Given the description of an element on the screen output the (x, y) to click on. 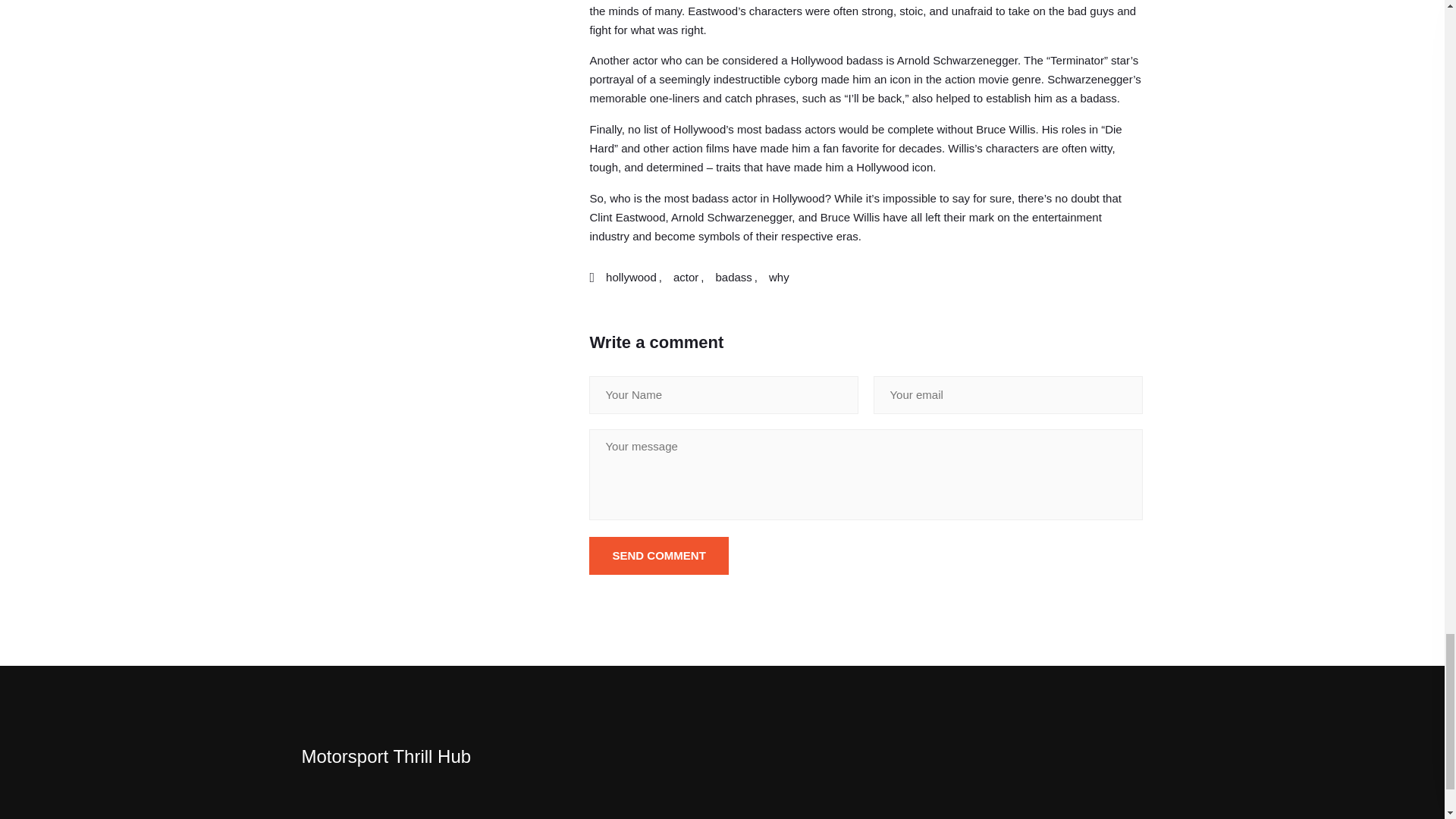
why (778, 277)
actor (685, 277)
hollywood (630, 277)
badass (732, 277)
Send Comment (658, 555)
Send Comment (658, 555)
